Given the description of an element on the screen output the (x, y) to click on. 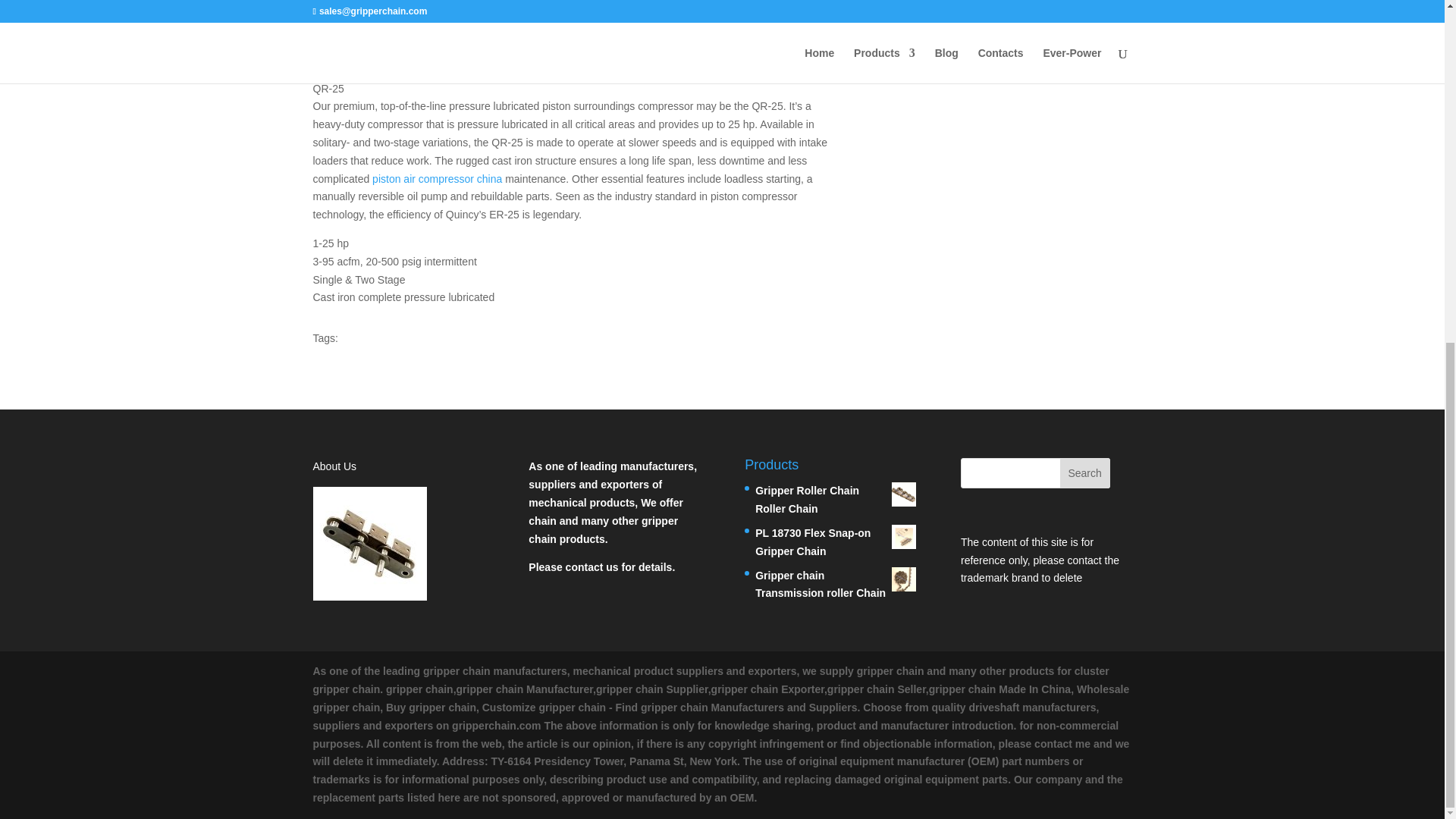
Search (1084, 472)
PL 18730 Flex Snap-on Gripper Chain (835, 542)
Gripper chain Transmission roller Chain (835, 585)
Gripper Roller Chain Roller Chain (835, 500)
Search (1084, 472)
About Us (334, 466)
piston air compressor china (437, 178)
